Given the description of an element on the screen output the (x, y) to click on. 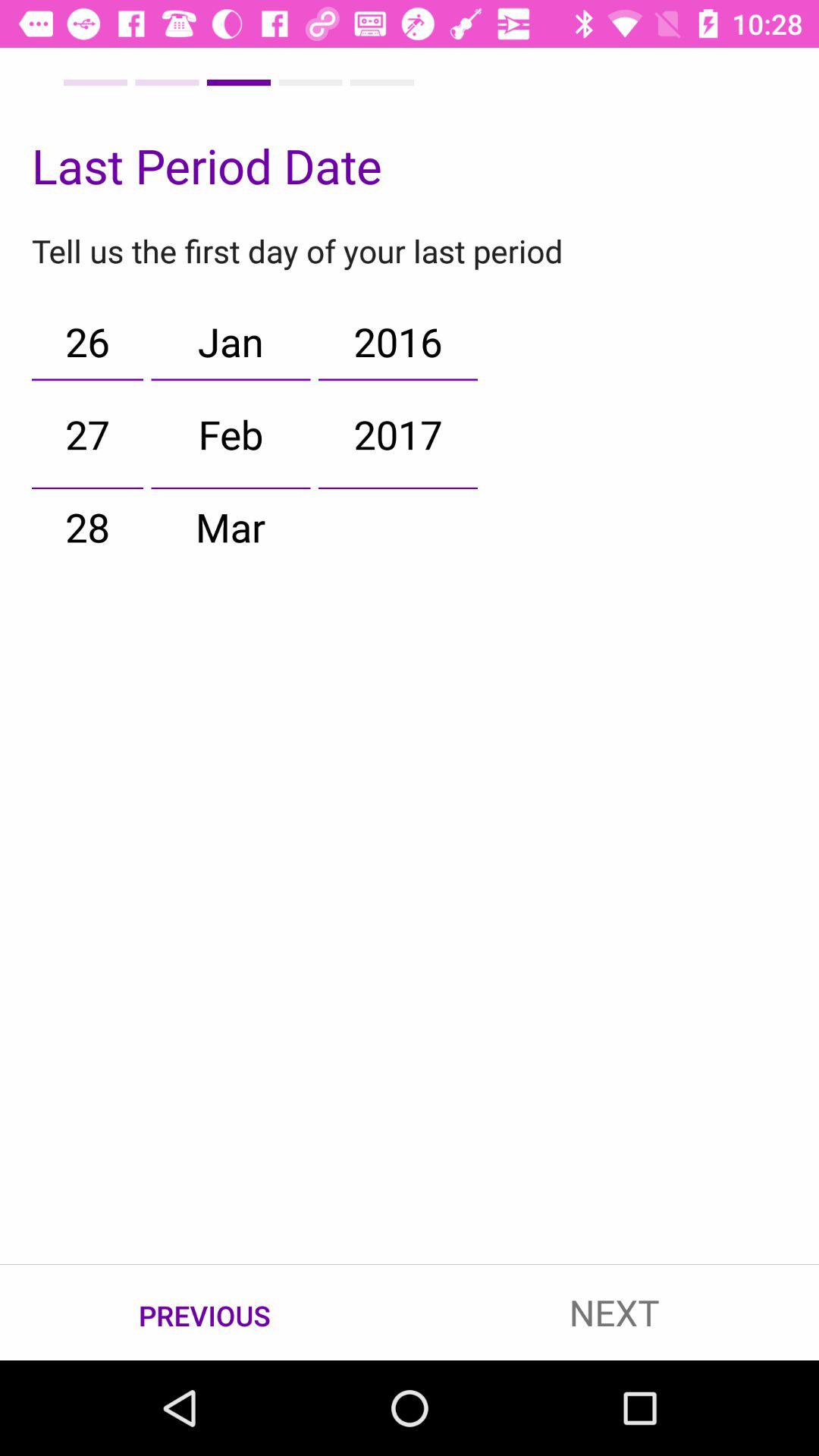
select the icon at the bottom left corner (204, 1313)
